Given the description of an element on the screen output the (x, y) to click on. 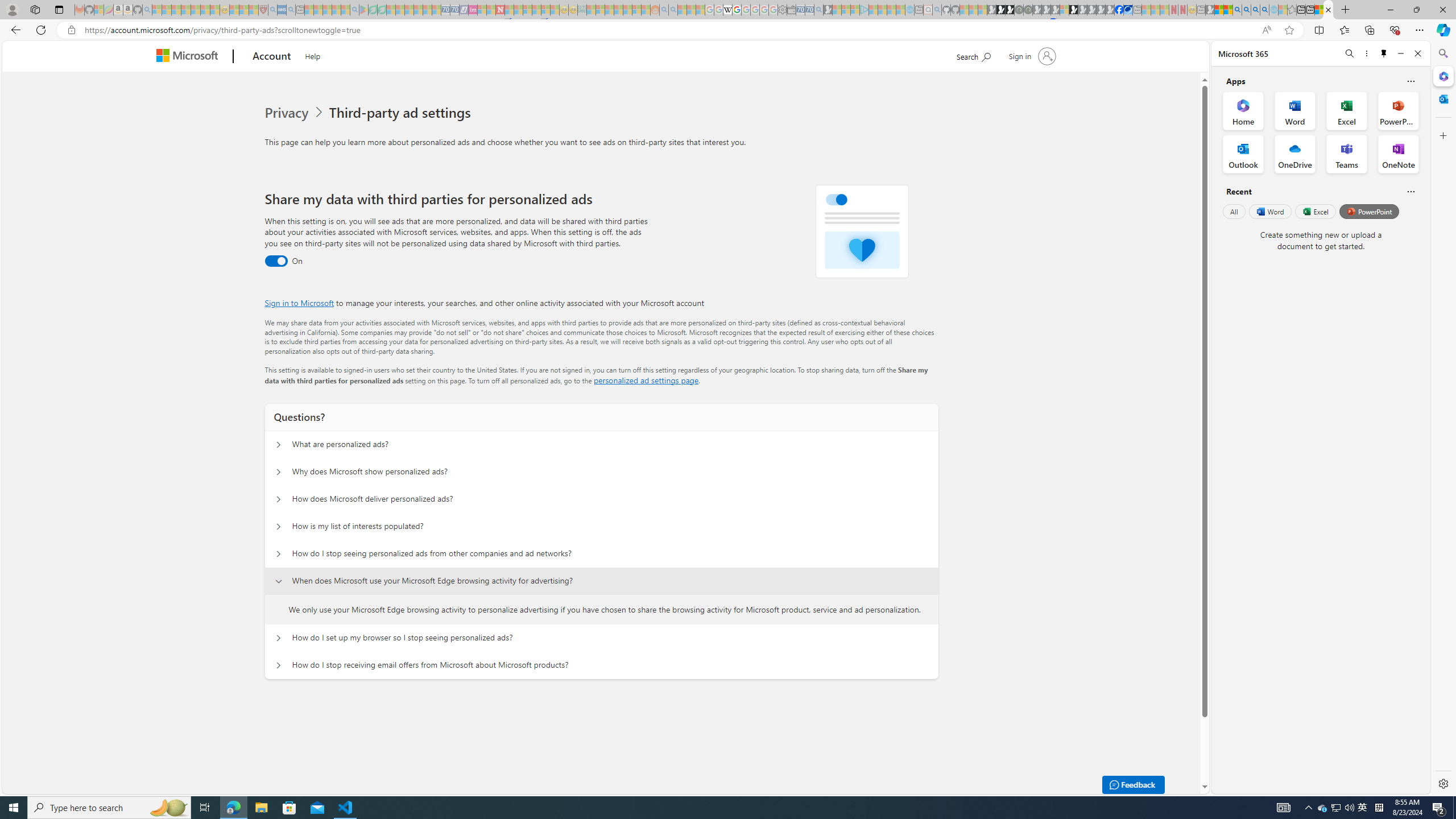
Utah sues federal government - Search - Sleeping (672, 9)
Nordace | Facebook (1118, 9)
Help (312, 54)
